Given the description of an element on the screen output the (x, y) to click on. 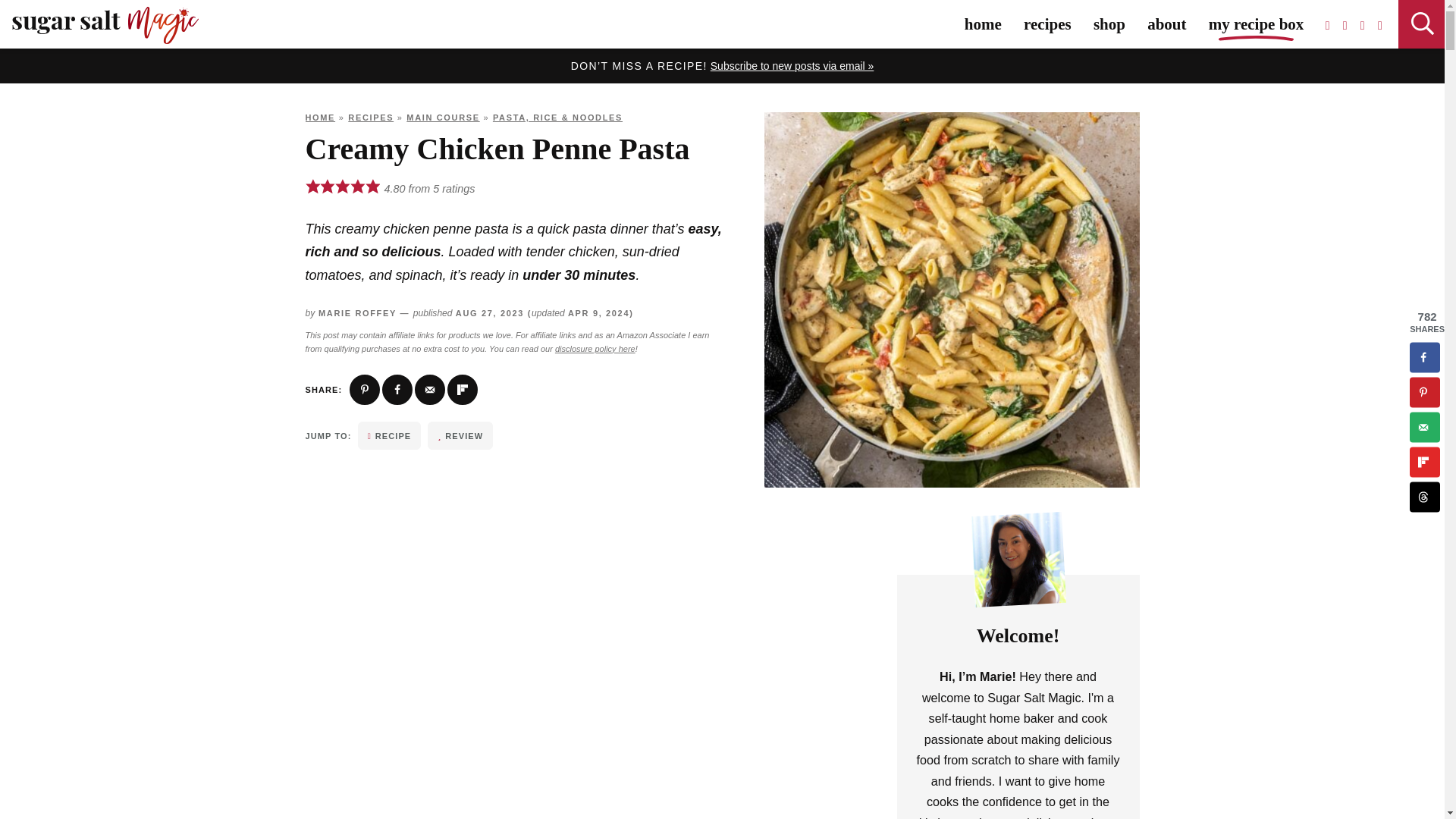
Send over email (429, 389)
Save to Pinterest (364, 389)
Share on Flipboard (461, 389)
Sugar Salt Magic (105, 25)
Share on Facebook (396, 389)
